Given the description of an element on the screen output the (x, y) to click on. 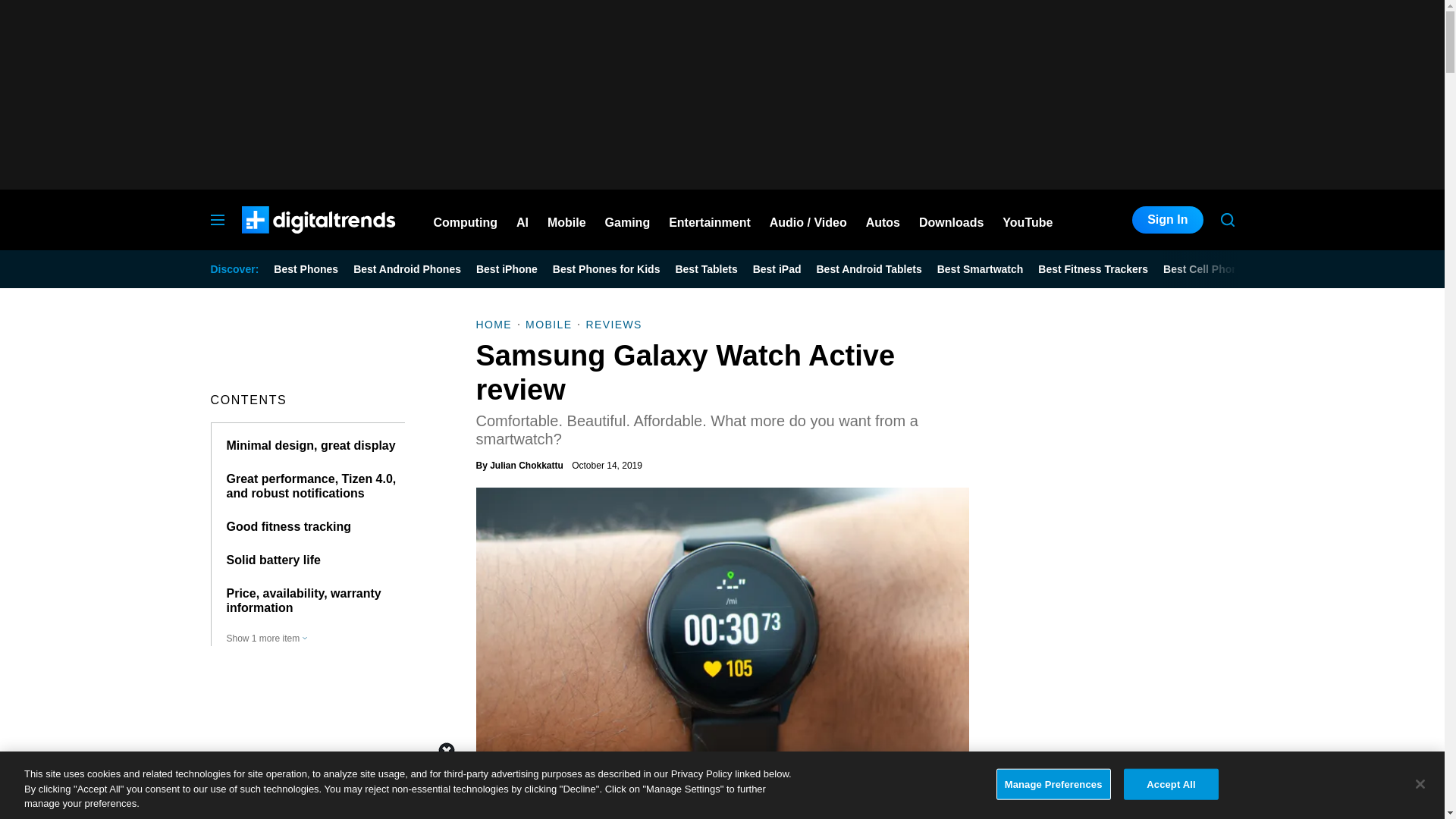
3rd party ad content (721, 94)
3rd party ad content (1120, 714)
Entertainment (709, 219)
3rd party ad content (721, 785)
Downloads (951, 219)
Computing (465, 219)
Sign In (1167, 219)
